Given the description of an element on the screen output the (x, y) to click on. 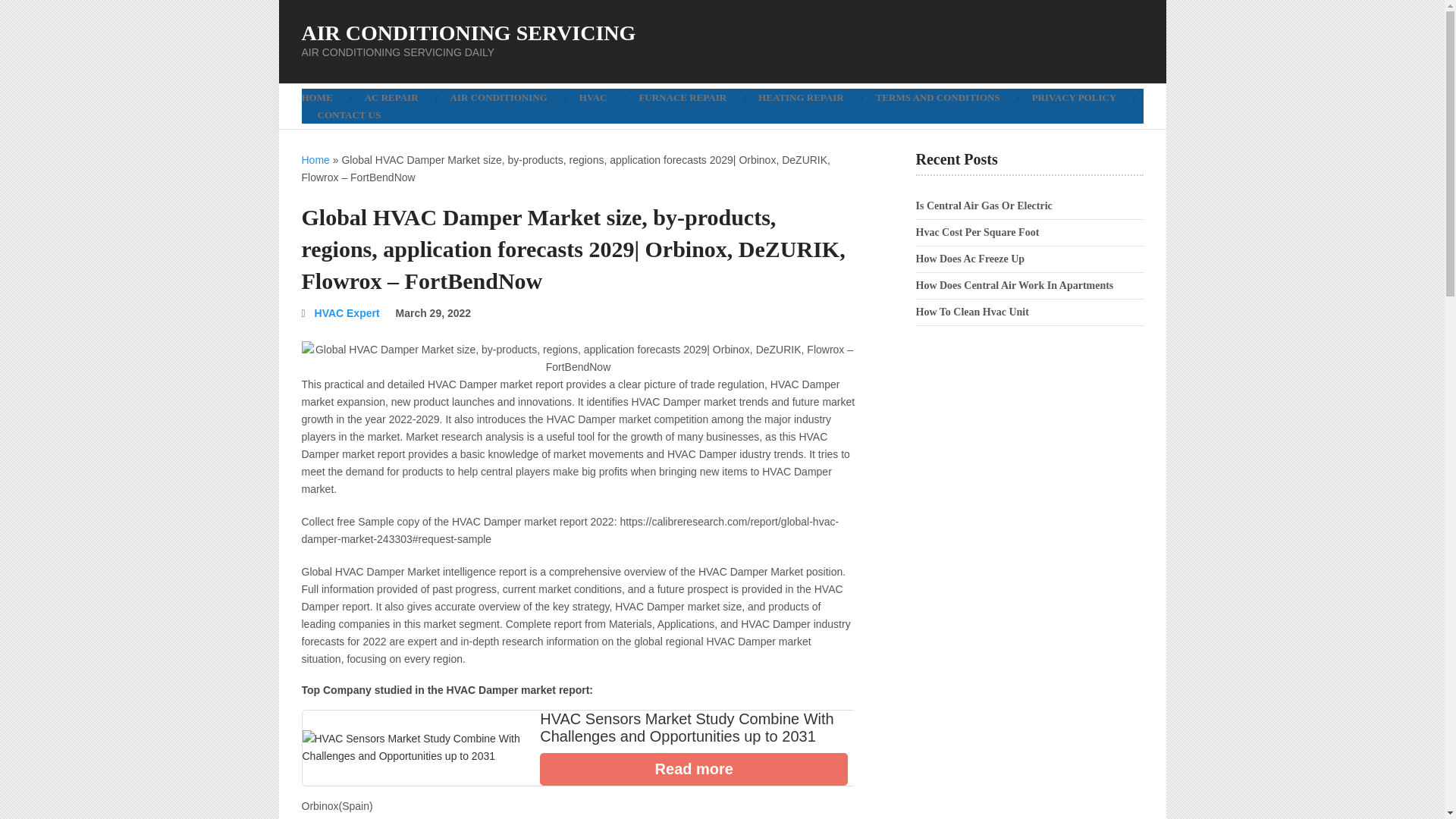
Is Central Air Gas Or Electric (983, 205)
HVAC (593, 97)
How To Clean Hvac Unit (972, 311)
How Does Ac Freeze Up (970, 258)
Home (315, 159)
AIR CONDITIONING SERVICING (468, 33)
TERMS AND CONDITIONS (938, 97)
CONTACT US (349, 114)
HEATING REPAIR (801, 97)
AIR CONDITIONING (498, 97)
